Given the description of an element on the screen output the (x, y) to click on. 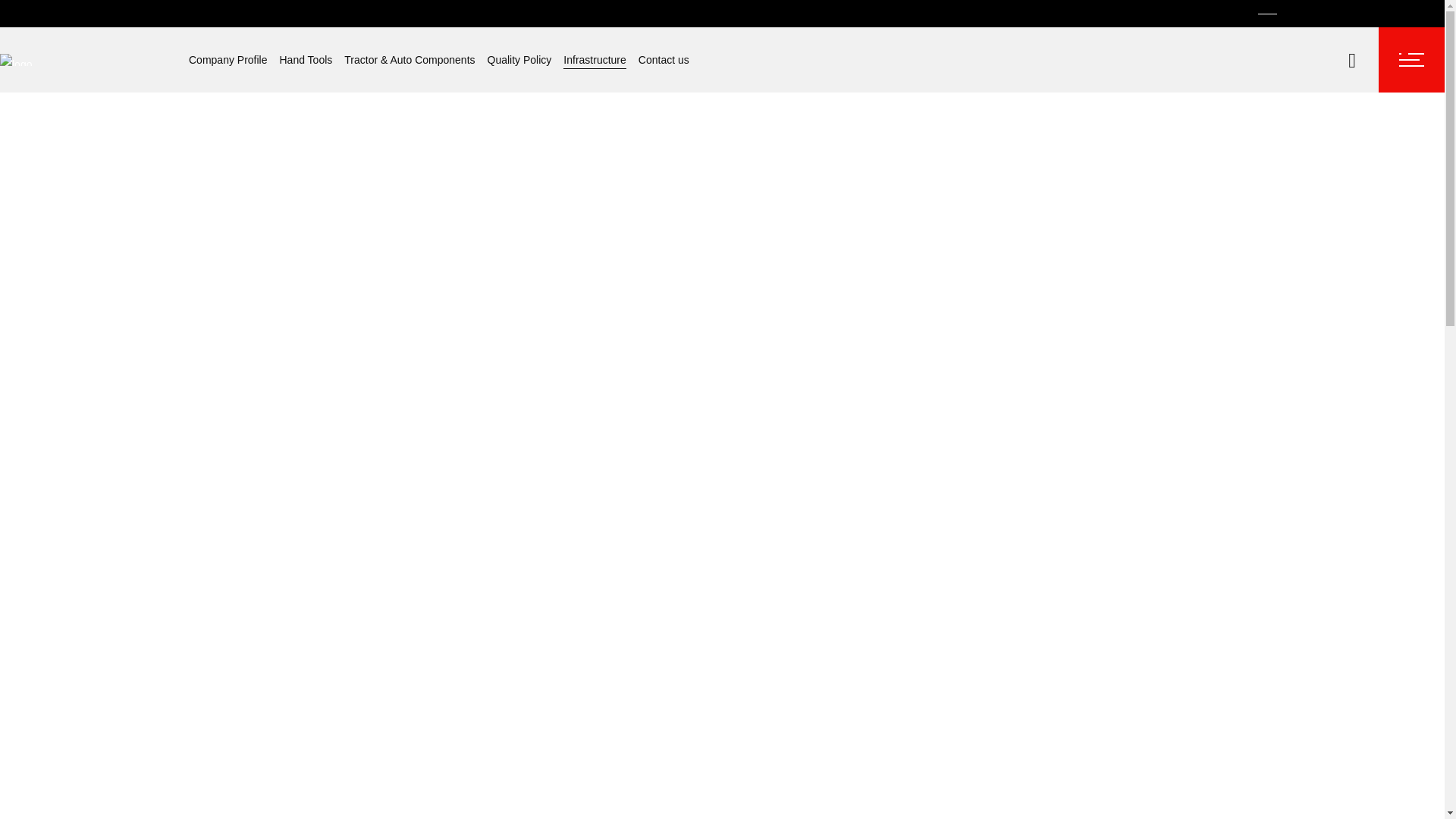
Company Profile (228, 59)
